Given the description of an element on the screen output the (x, y) to click on. 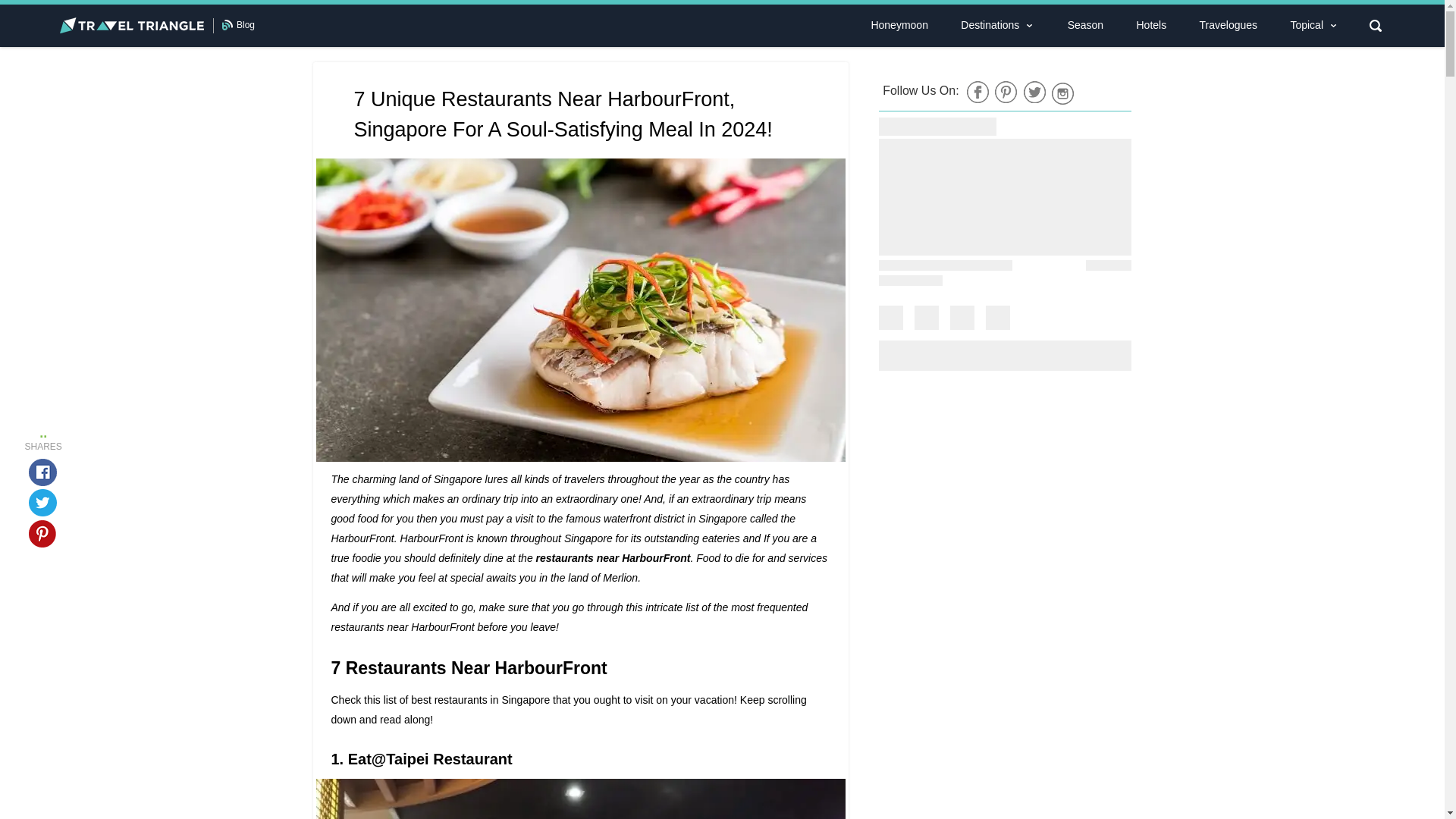
Honeymoon (899, 24)
Season (1085, 24)
Topical (1306, 24)
Destinations (988, 24)
Hotels (1150, 24)
Blog (244, 24)
Travelogues (1228, 24)
